Given the description of an element on the screen output the (x, y) to click on. 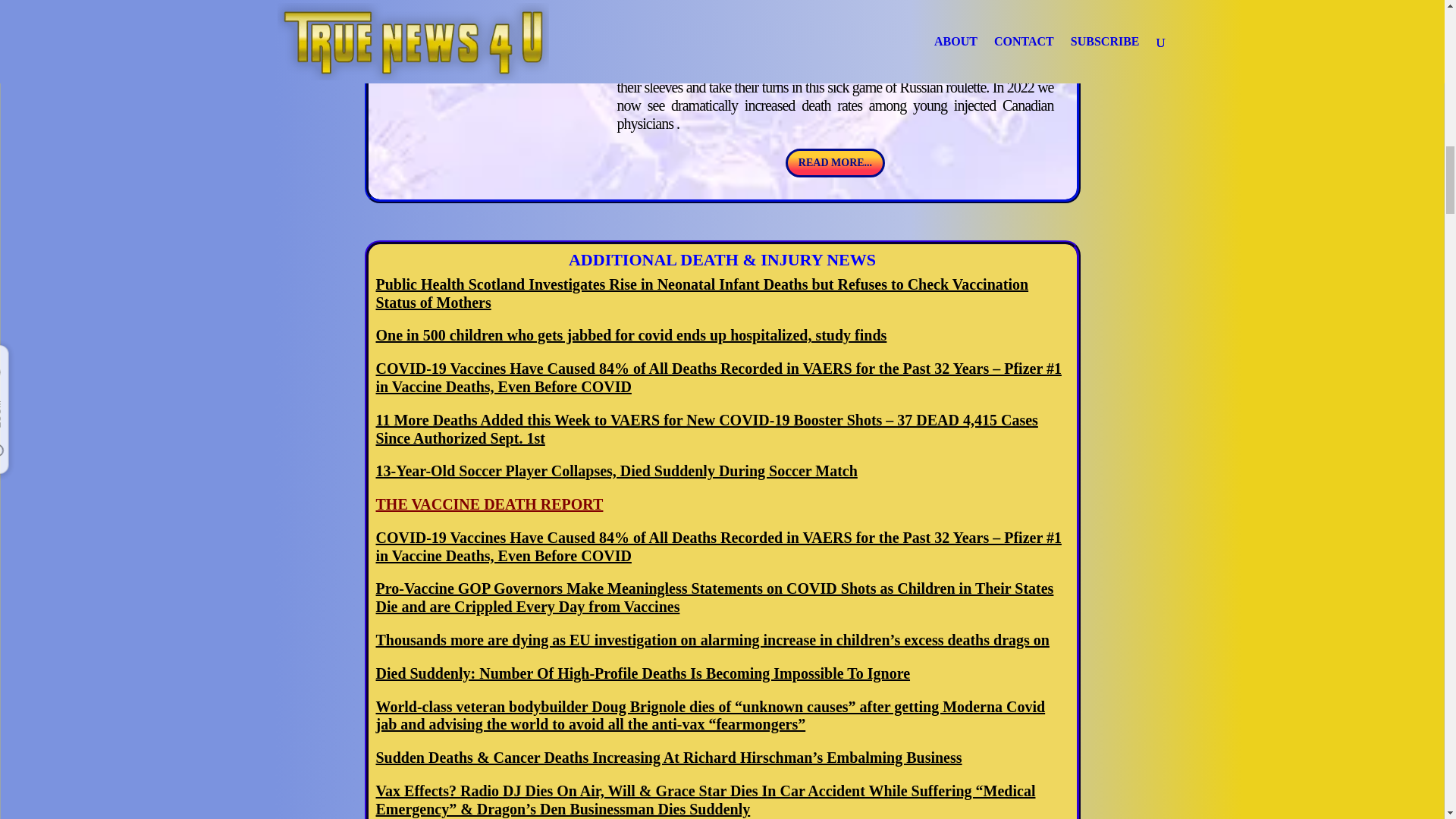
THE VACCINE DEATH REPORT (489, 504)
READ MORE... (835, 162)
